Given the description of an element on the screen output the (x, y) to click on. 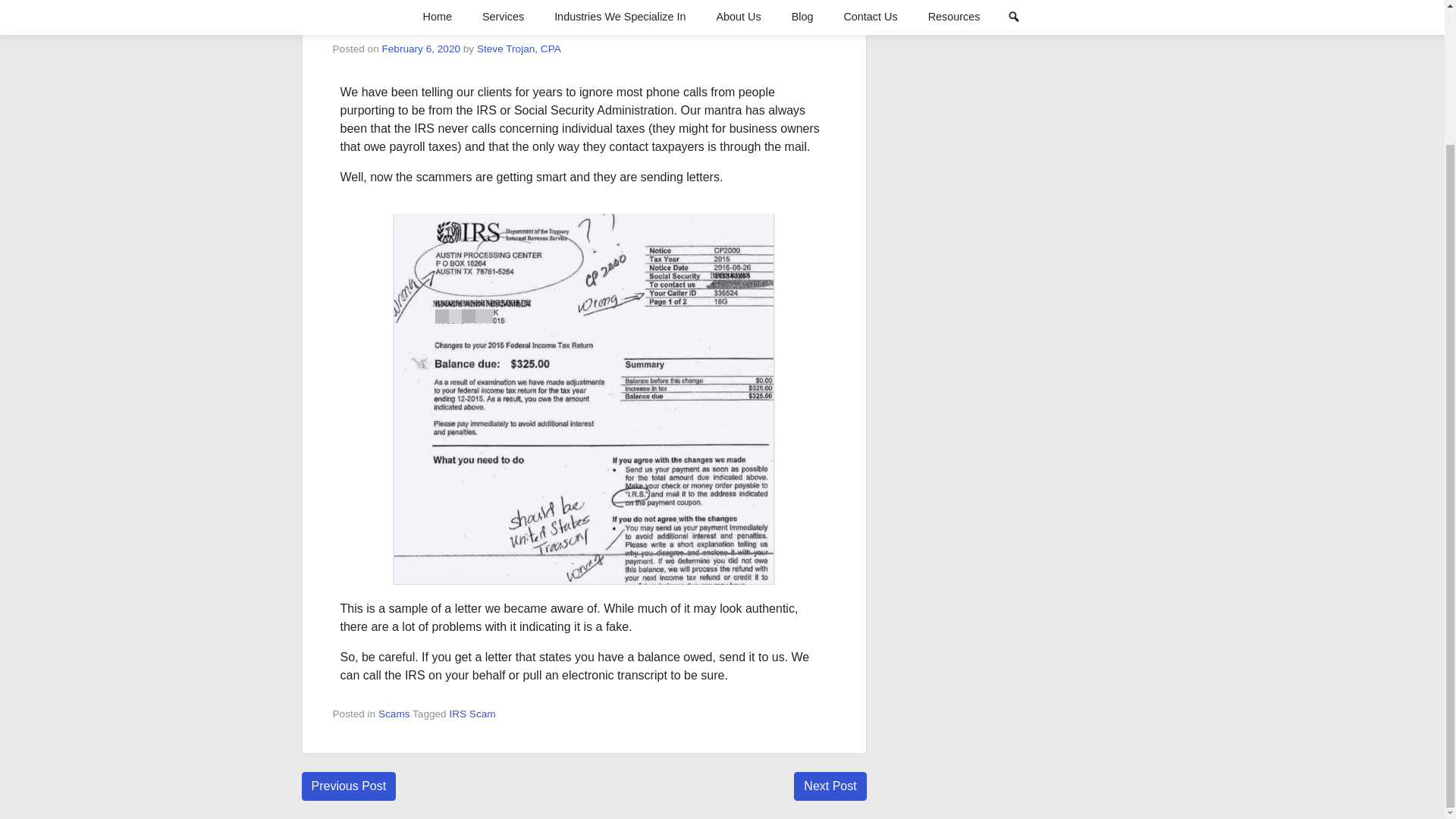
Steve Trojan, CPA (518, 48)
Scams (394, 713)
Previous Post (348, 784)
IRS Scam (471, 713)
February 6, 2020 (421, 48)
Next Post (829, 784)
